Given the description of an element on the screen output the (x, y) to click on. 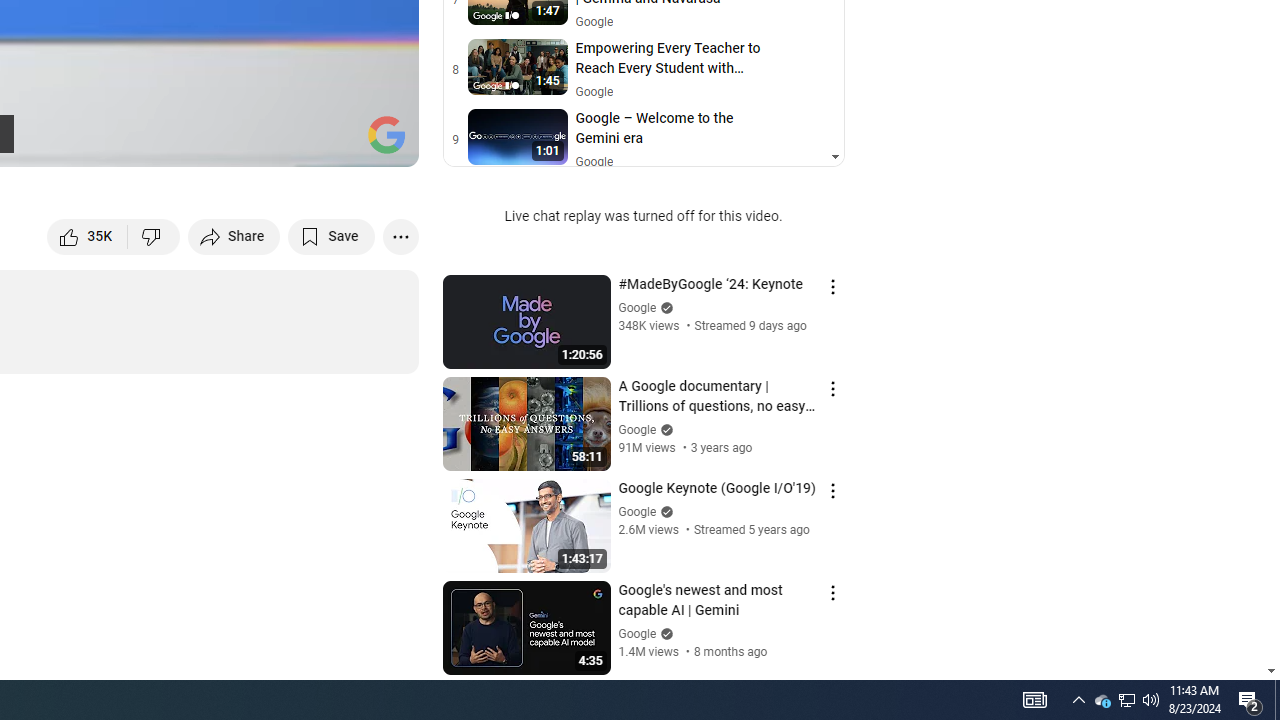
Share (234, 236)
Subtitles/closed captions unavailable (190, 142)
